Given the description of an element on the screen output the (x, y) to click on. 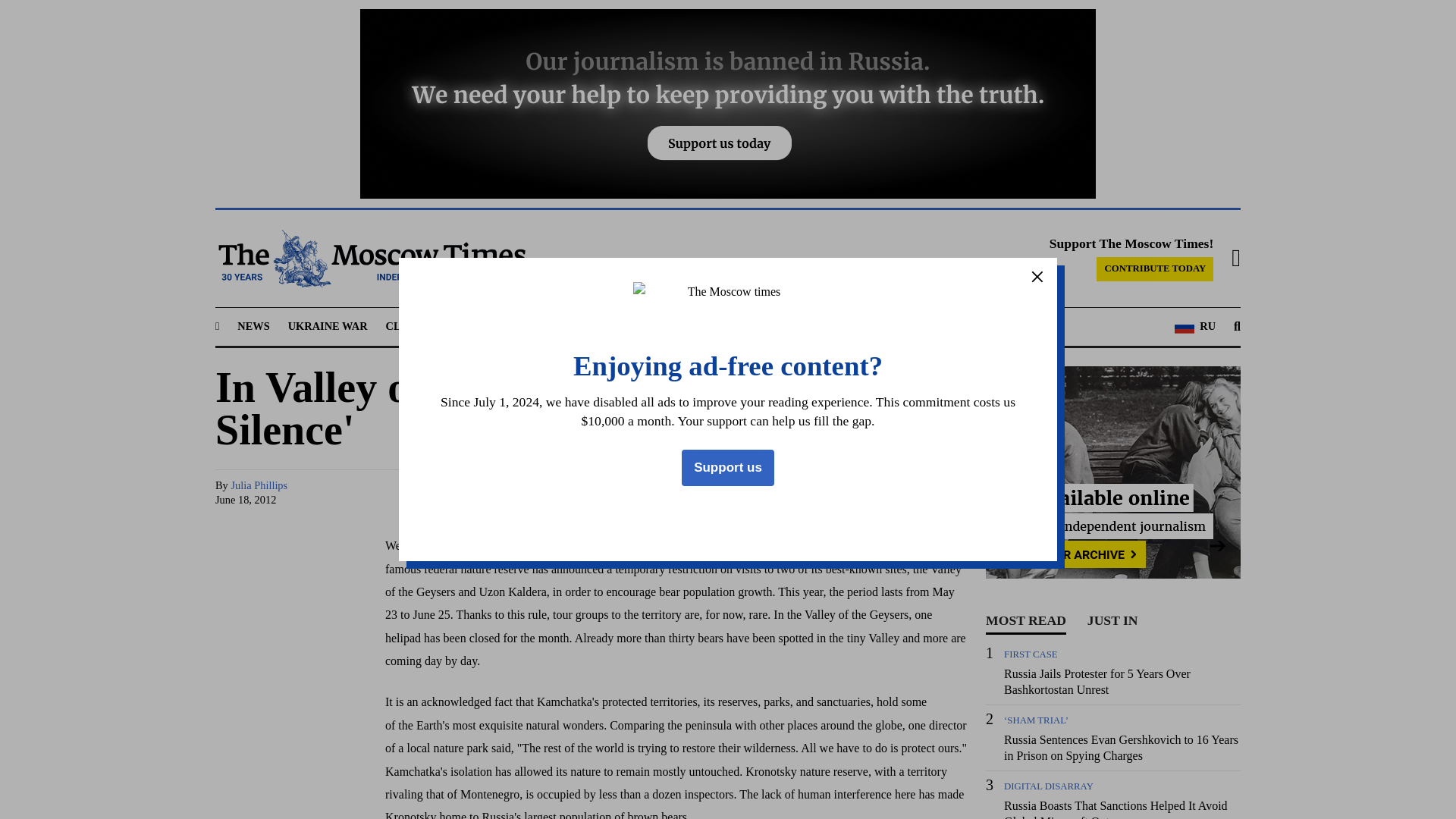
Share on Twitter (810, 492)
CLIMATE (411, 326)
NEWS (253, 326)
Share on Facebook (781, 492)
Share on Flipboard (925, 492)
Share on Telegram (838, 492)
UKRAINE WAR (328, 326)
ARCHIVE (853, 326)
OPINION (708, 326)
RU (1194, 326)
PODCASTS (780, 326)
The Moscow Times - Independent News from Russia (370, 258)
Support us (727, 467)
CONTRIBUTE TODAY (1154, 269)
MEANWHILE (629, 326)
